Given the description of an element on the screen output the (x, y) to click on. 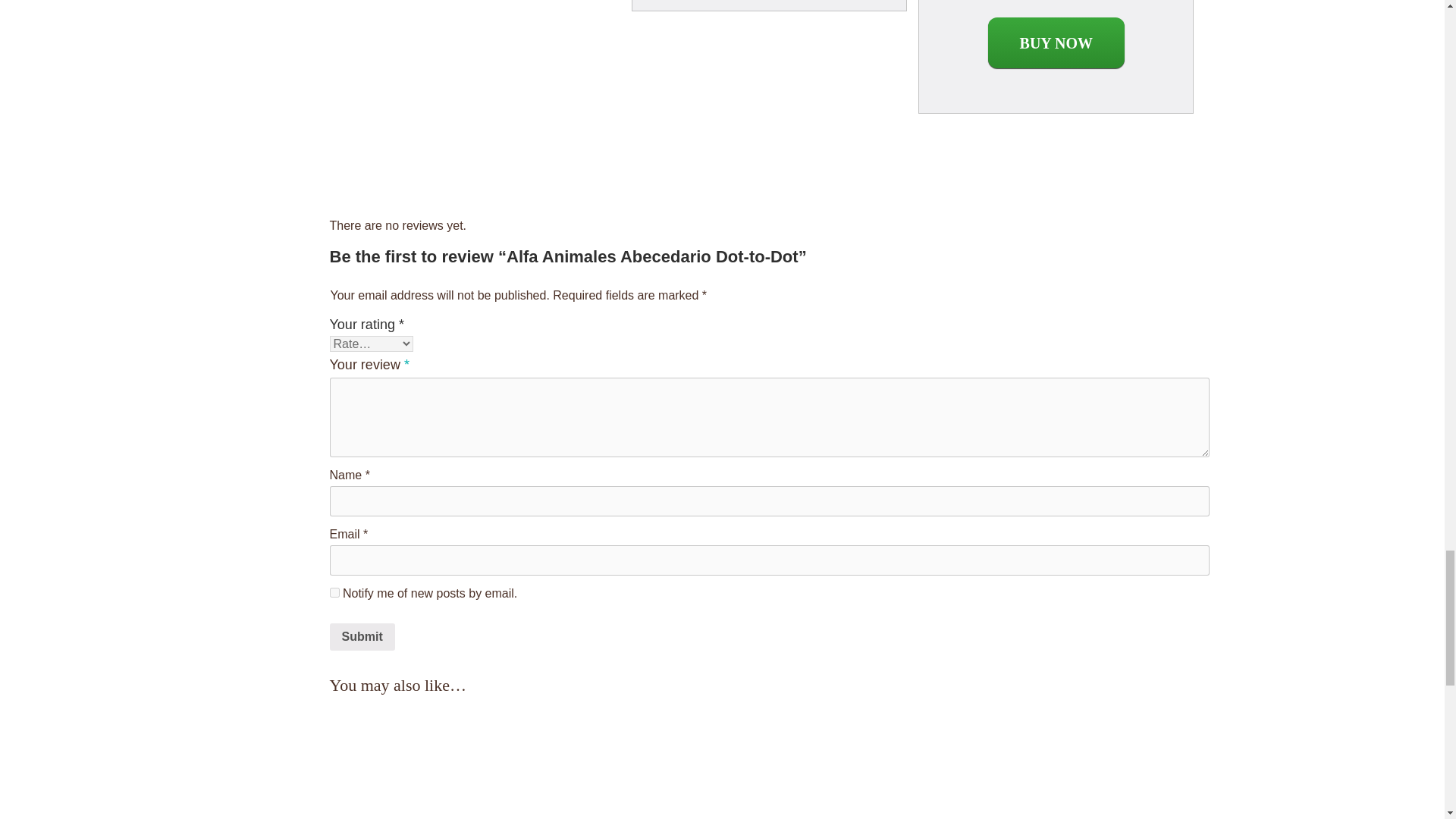
subscribe (334, 592)
Submit (361, 636)
BUY NOW (1056, 42)
